Given the description of an element on the screen output the (x, y) to click on. 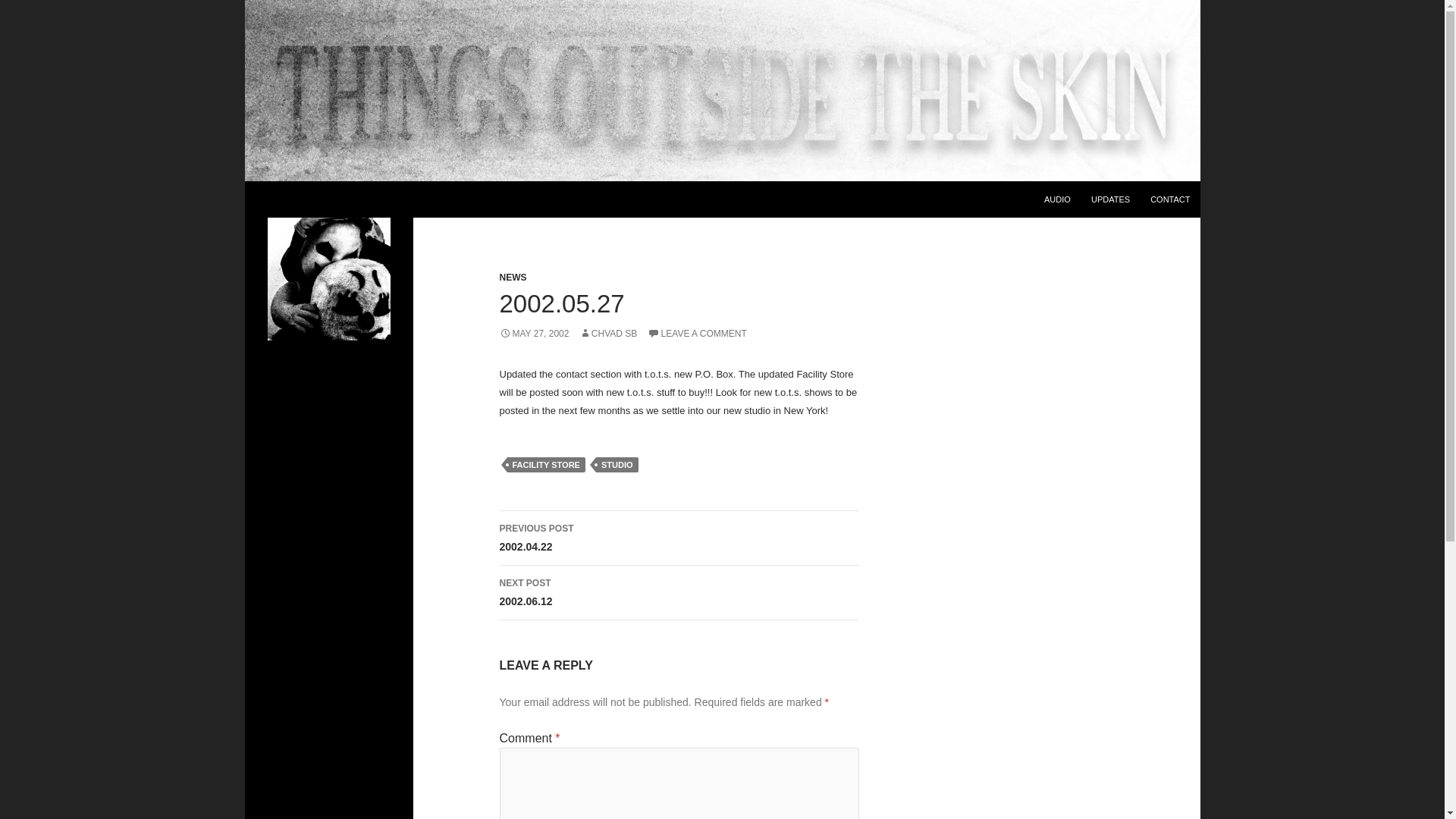
MAY 27, 2002 (534, 333)
UPDATES (679, 538)
CONTACT (1109, 198)
LEAVE A COMMENT (1169, 198)
STUDIO (696, 333)
NEWS (617, 464)
CHVAD SB (512, 276)
FACILITY STORE (679, 592)
AUDIO (608, 333)
SKIP TO CONTENT (545, 464)
